Given the description of an element on the screen output the (x, y) to click on. 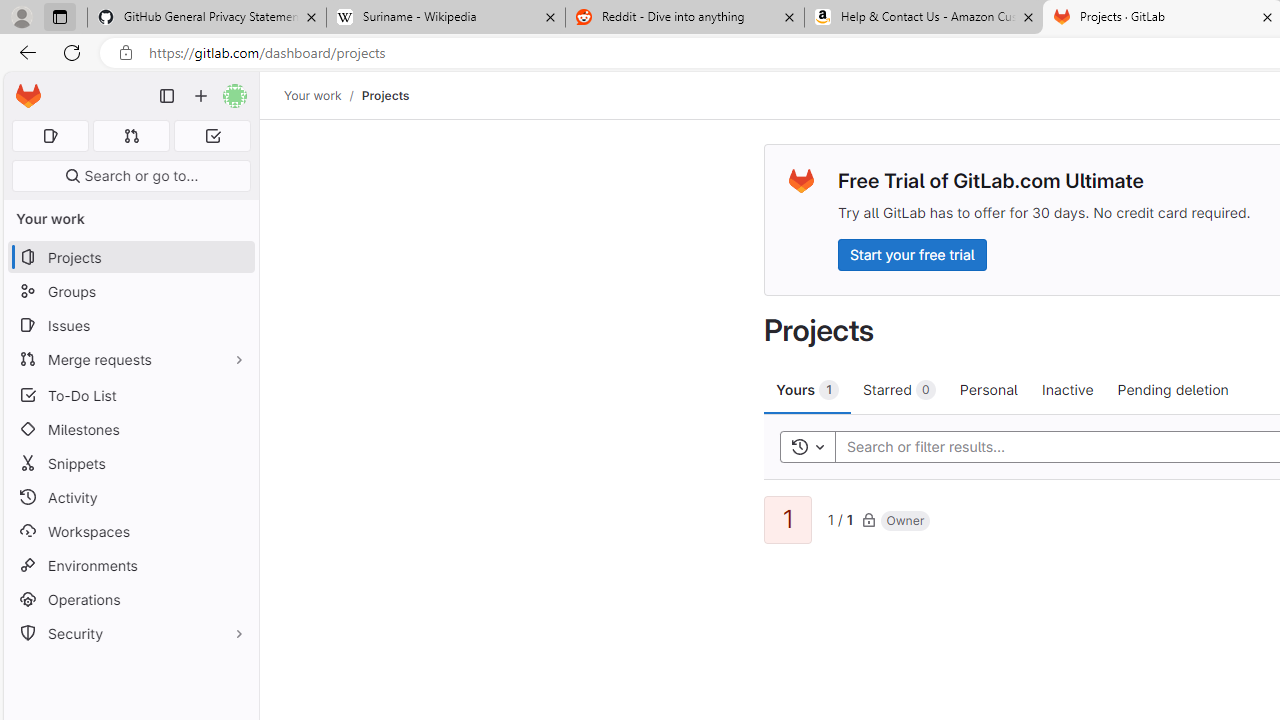
Issues (130, 325)
Primary navigation sidebar (167, 96)
1 (787, 519)
Your work (312, 95)
Operations (130, 599)
Operations (130, 599)
Snippets (130, 463)
GitHub General Privacy Statement - GitHub Docs (207, 17)
Pending deletion (1172, 389)
